Given the description of an element on the screen output the (x, y) to click on. 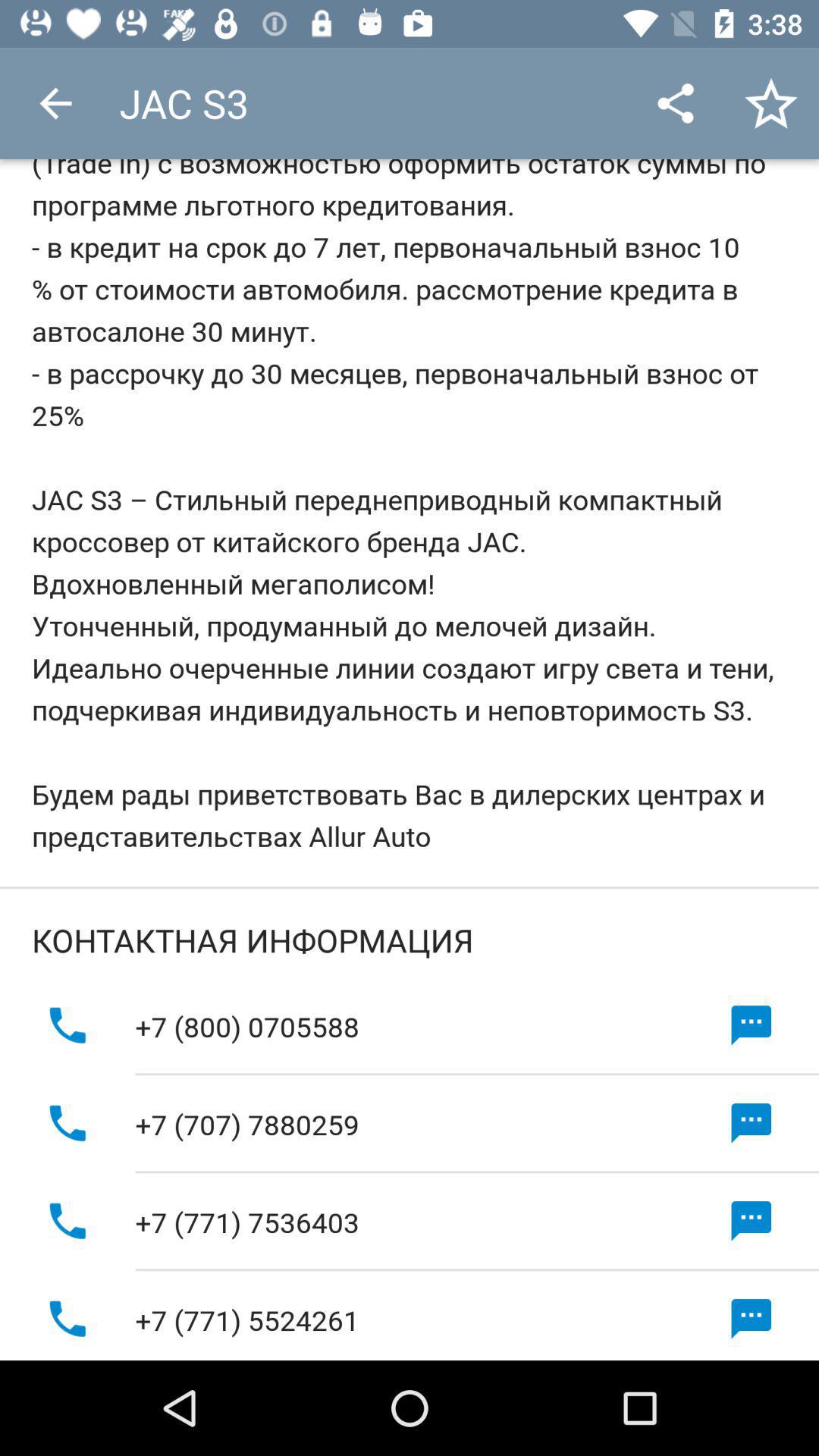
tap icon next to jac s3 app (55, 103)
